Given the description of an element on the screen output the (x, y) to click on. 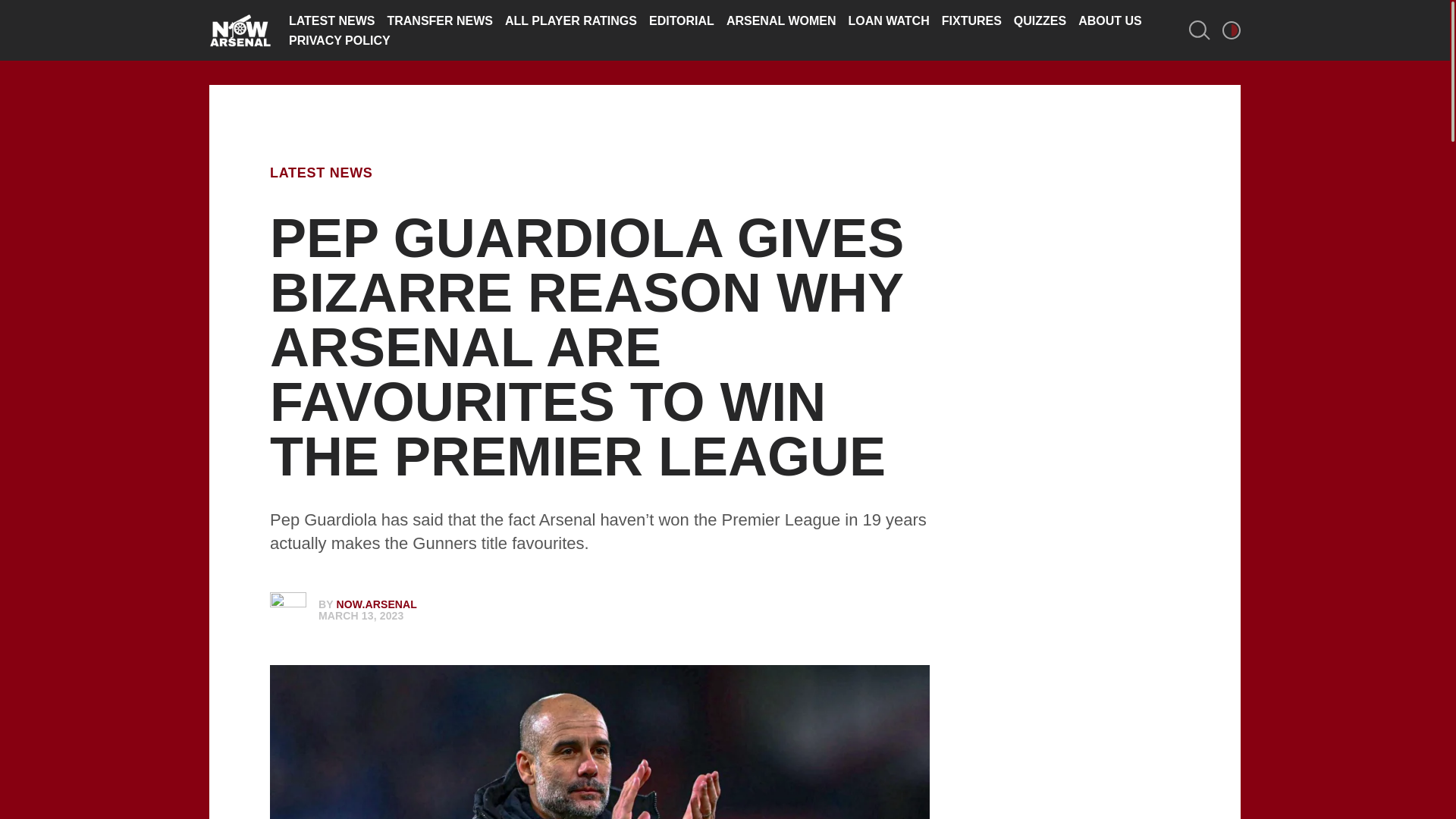
FIXTURES (971, 20)
LATEST NEWS (331, 20)
PRIVACY POLICY (339, 40)
LIGHT MODE (1231, 30)
ALL PLAYER RATINGS (571, 20)
QUIZZES (1039, 20)
TRANSFER NEWS (440, 20)
ARSENAL WOMEN (780, 20)
ABOUT US (1109, 20)
EDITORIAL (681, 20)
NOW.ARSENAL (376, 604)
LOAN WATCH (887, 20)
LATEST NEWS (320, 172)
